Given the description of an element on the screen output the (x, y) to click on. 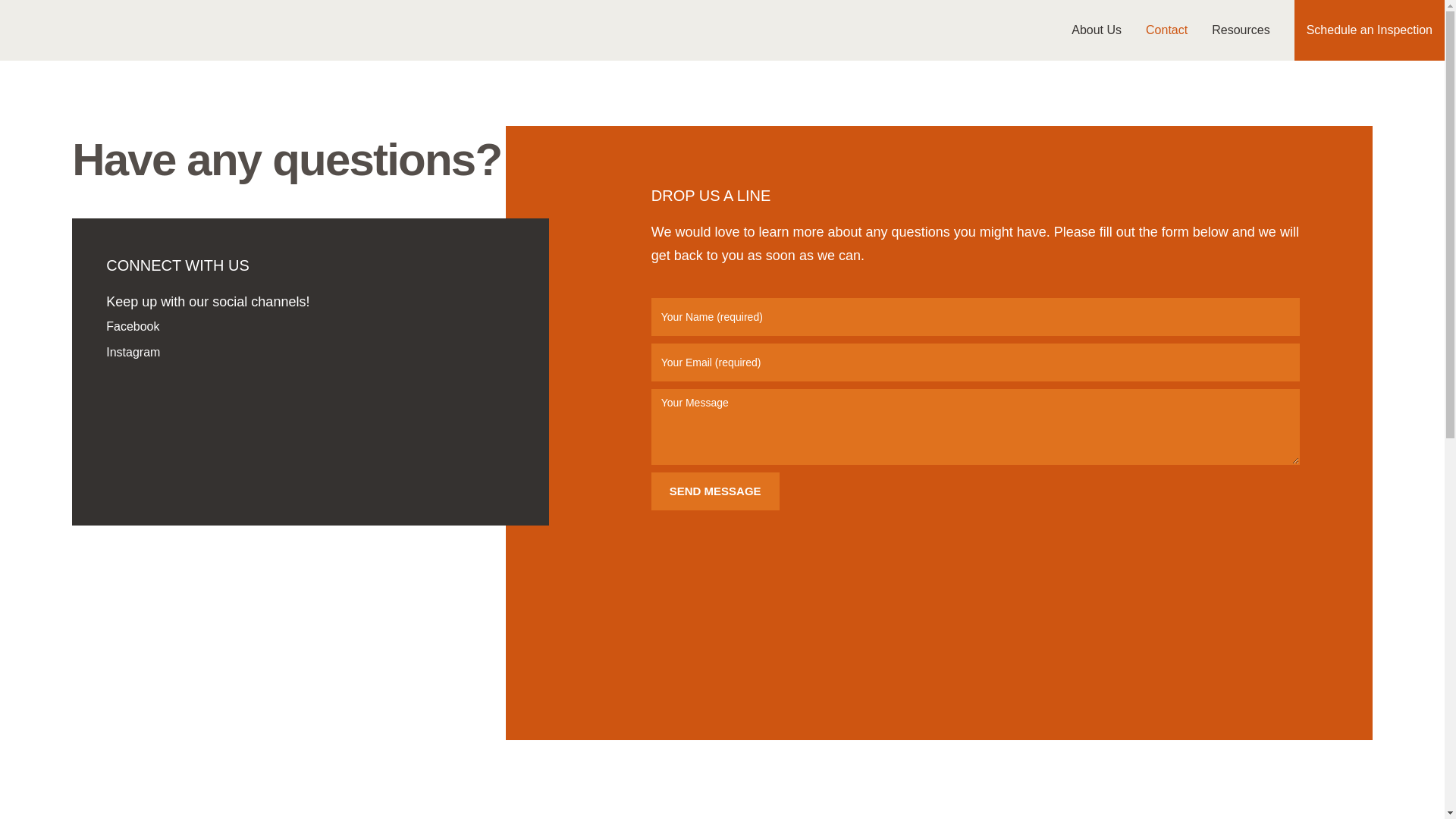
Instagram (310, 352)
About Us (1096, 30)
Contact (1166, 30)
Facebook (310, 326)
SEND MESSAGE (714, 491)
SEND MESSAGE (714, 491)
Resources (1240, 30)
